Given the description of an element on the screen output the (x, y) to click on. 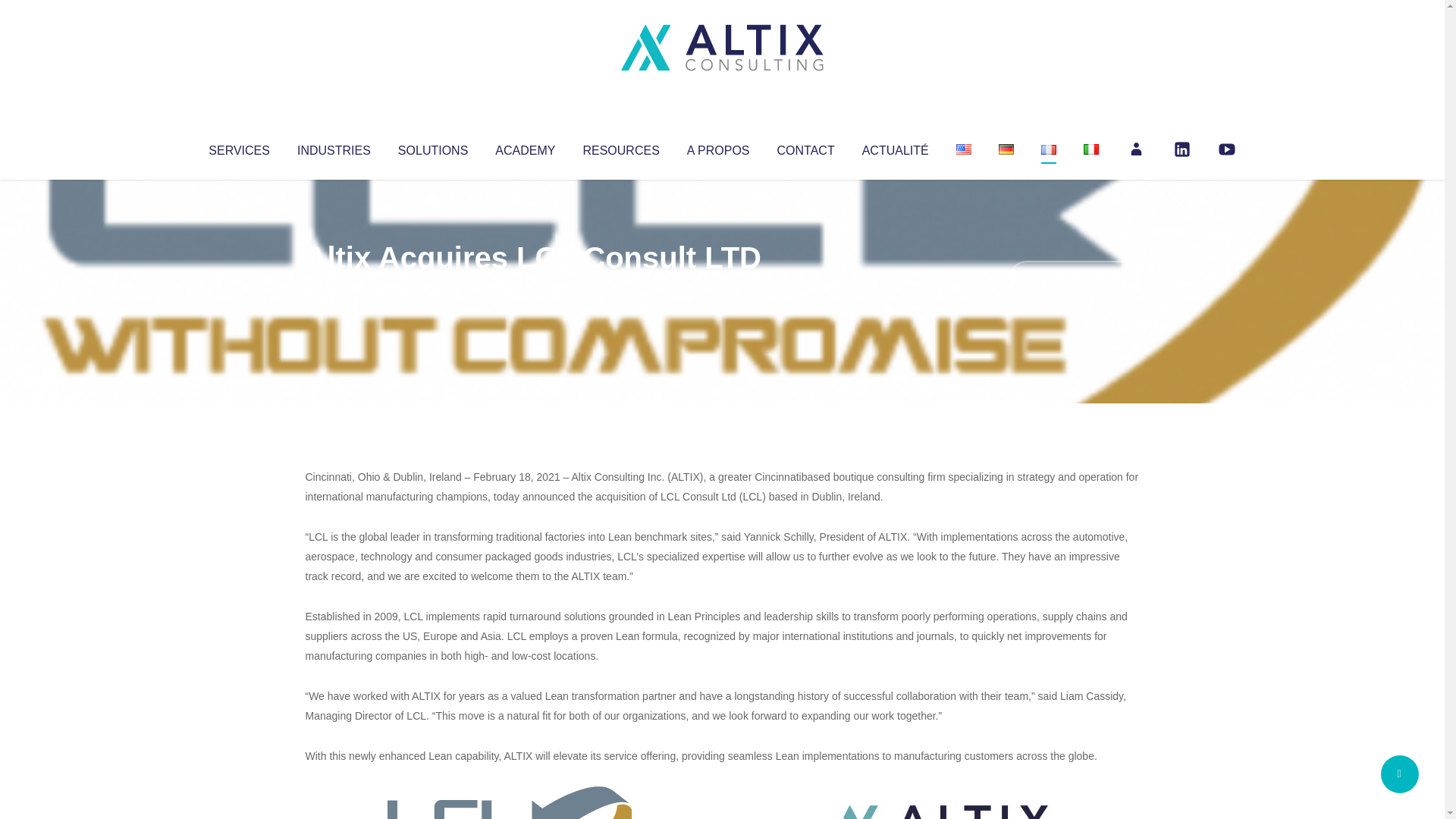
SERVICES (238, 146)
No Comments (1073, 278)
SOLUTIONS (432, 146)
Altix (333, 287)
Uncategorized (530, 287)
Articles par Altix (333, 287)
INDUSTRIES (334, 146)
RESOURCES (620, 146)
A PROPOS (718, 146)
ACADEMY (524, 146)
